Given the description of an element on the screen output the (x, y) to click on. 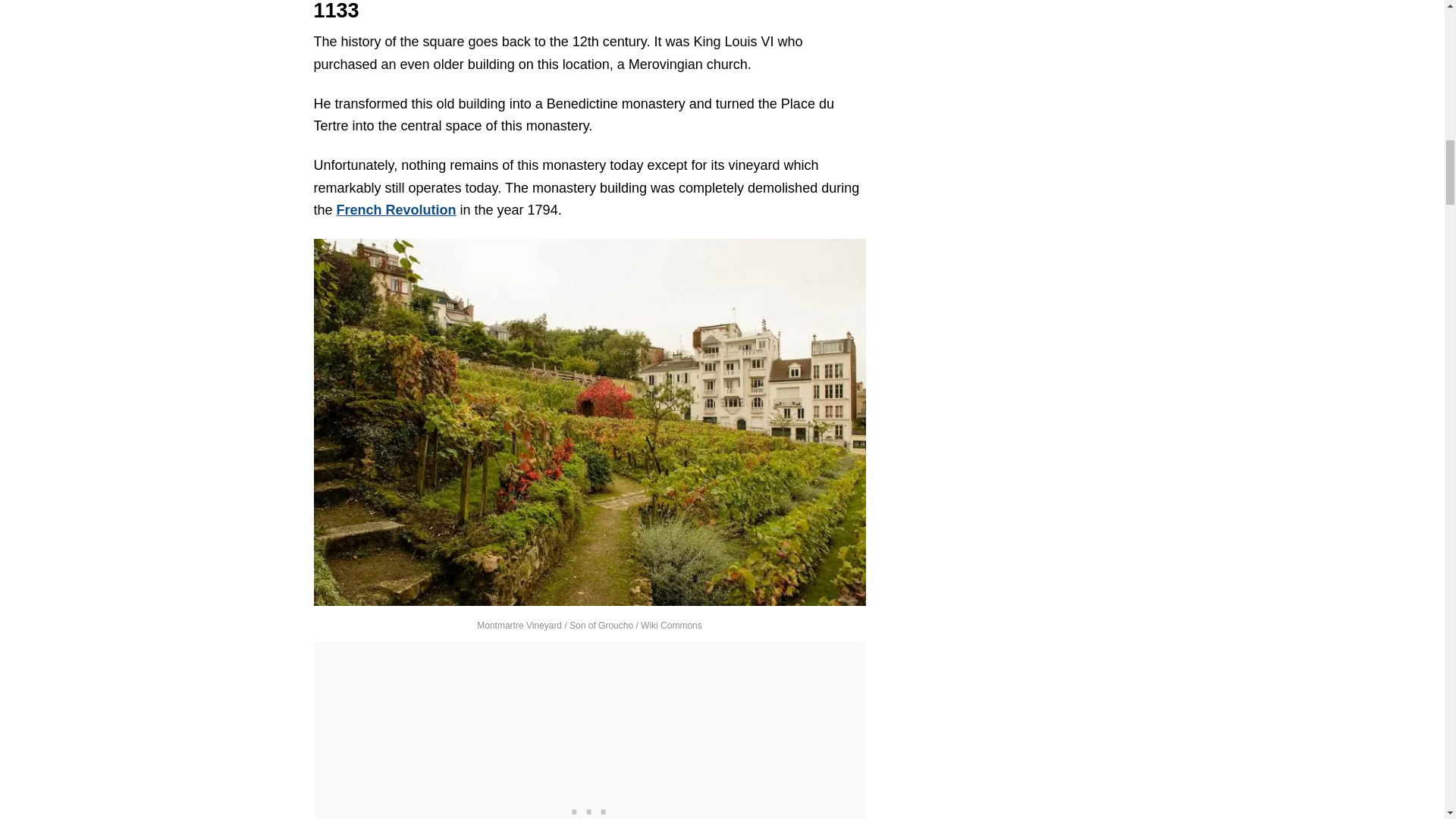
French Revolution (396, 209)
